Given the description of an element on the screen output the (x, y) to click on. 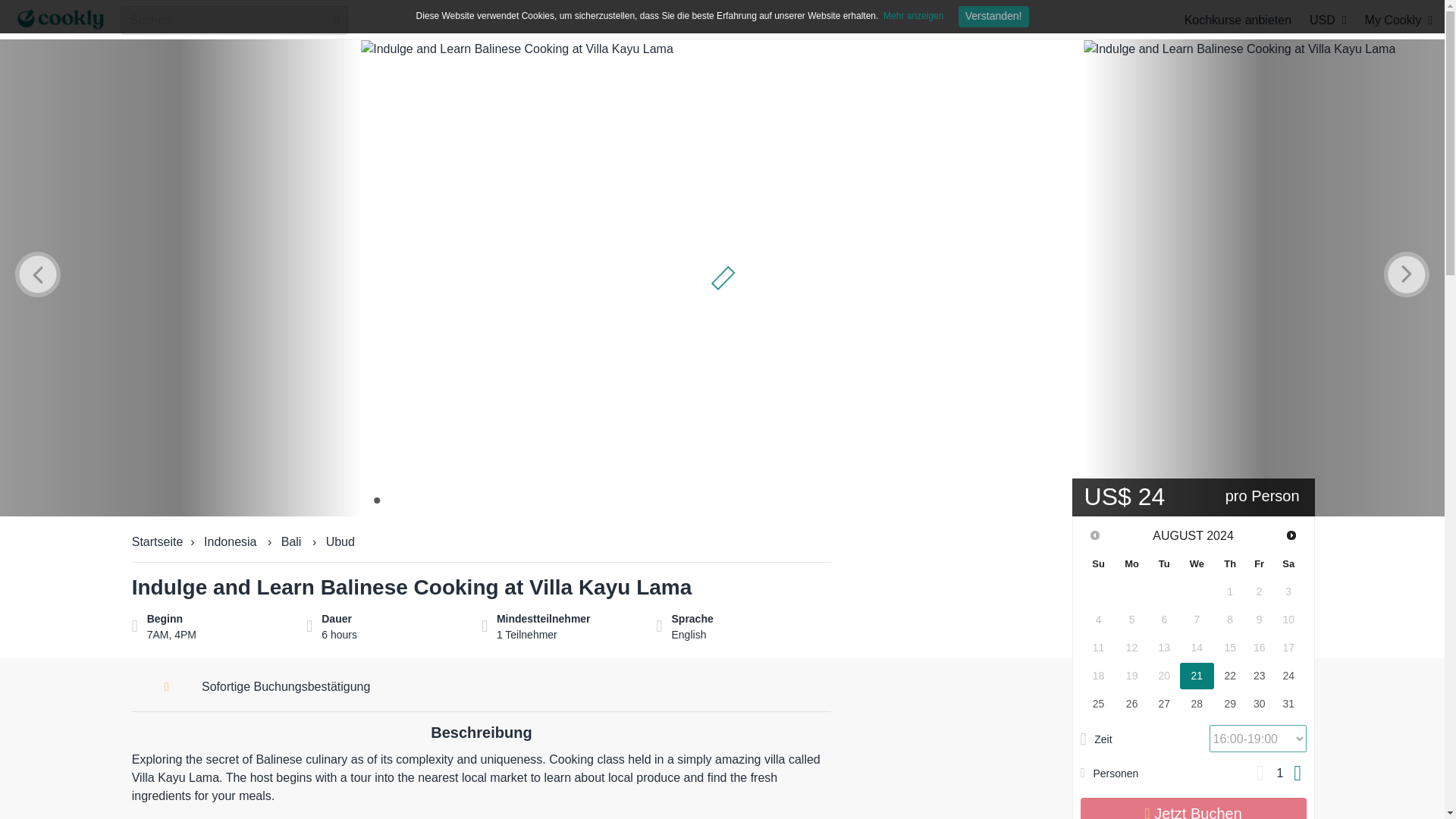
25 (1098, 704)
Thursday (1230, 563)
Next (1292, 535)
Prev (1094, 535)
Sunday (1098, 563)
Saturday (1288, 563)
Tuesday (1164, 563)
26 (1131, 704)
2 (390, 500)
PREV (1094, 535)
